Given the description of an element on the screen output the (x, y) to click on. 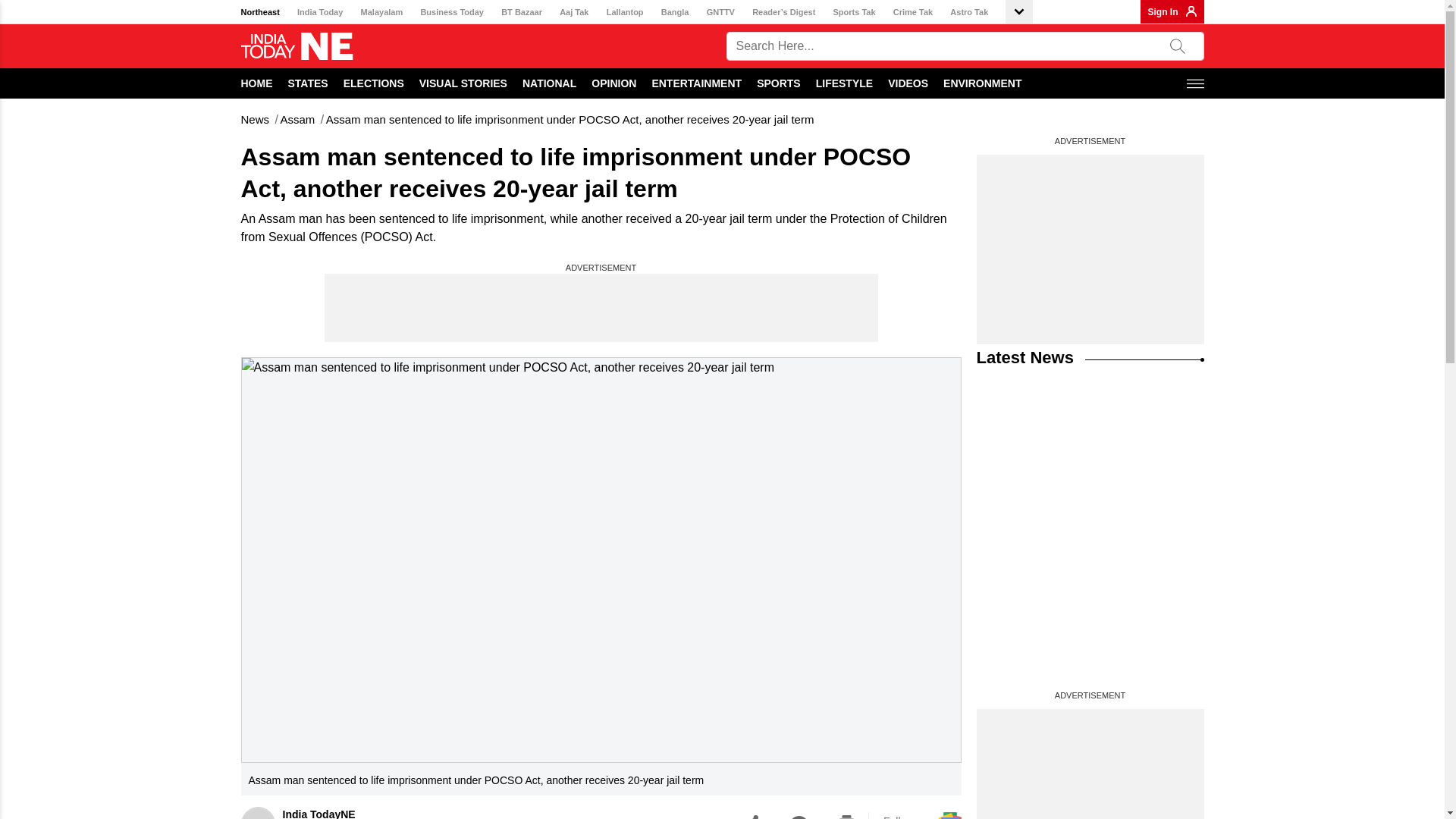
Astro Tak (969, 12)
Business Today (451, 12)
India Today (319, 12)
Crime Tak (913, 12)
Aaj Tak (573, 12)
Sports Tak (854, 12)
Crime Tak (913, 12)
NATIONAL (549, 82)
Malayalam (382, 12)
GNTTV (720, 12)
Northeast (260, 12)
VISUAL STORIES (462, 82)
Bangla (674, 12)
BT Bazaar (520, 12)
GNTTV (720, 12)
